Given the description of an element on the screen output the (x, y) to click on. 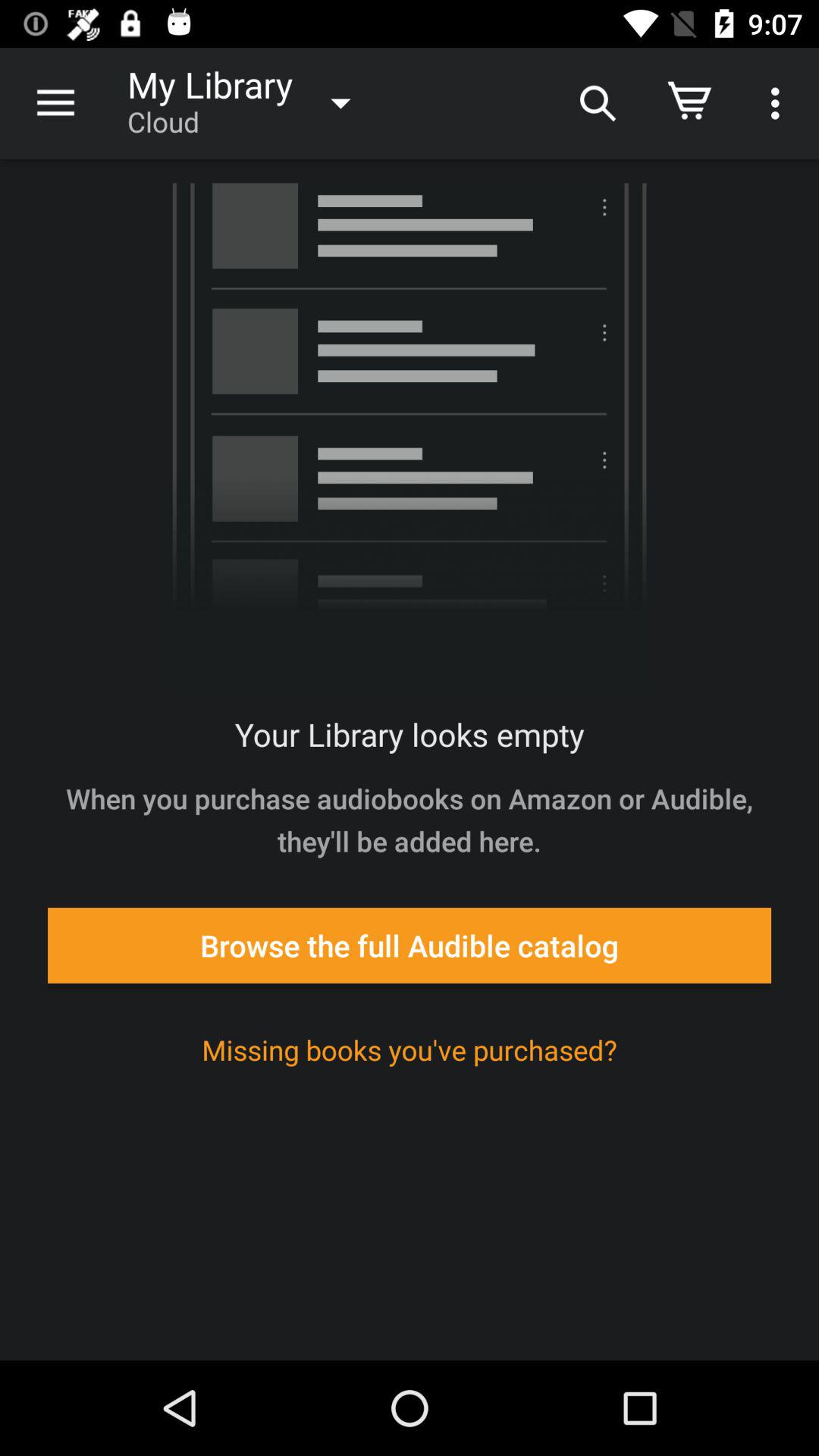
turn off missing books you (409, 1049)
